Given the description of an element on the screen output the (x, y) to click on. 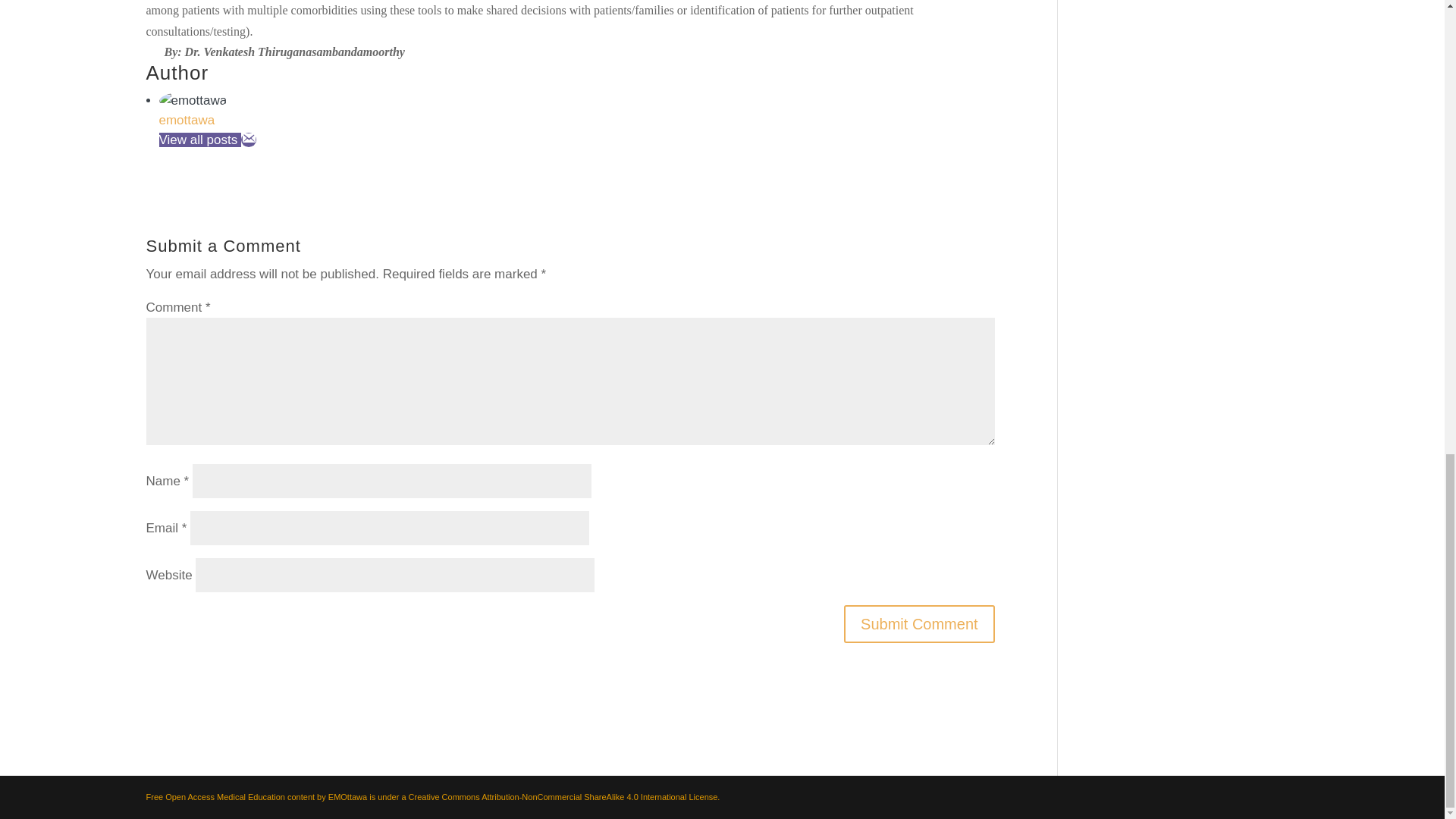
emottawa (186, 120)
View all posts (199, 139)
Submit Comment (919, 623)
Submit Comment (919, 623)
View all posts (199, 139)
emottawa (186, 120)
